Given the description of an element on the screen output the (x, y) to click on. 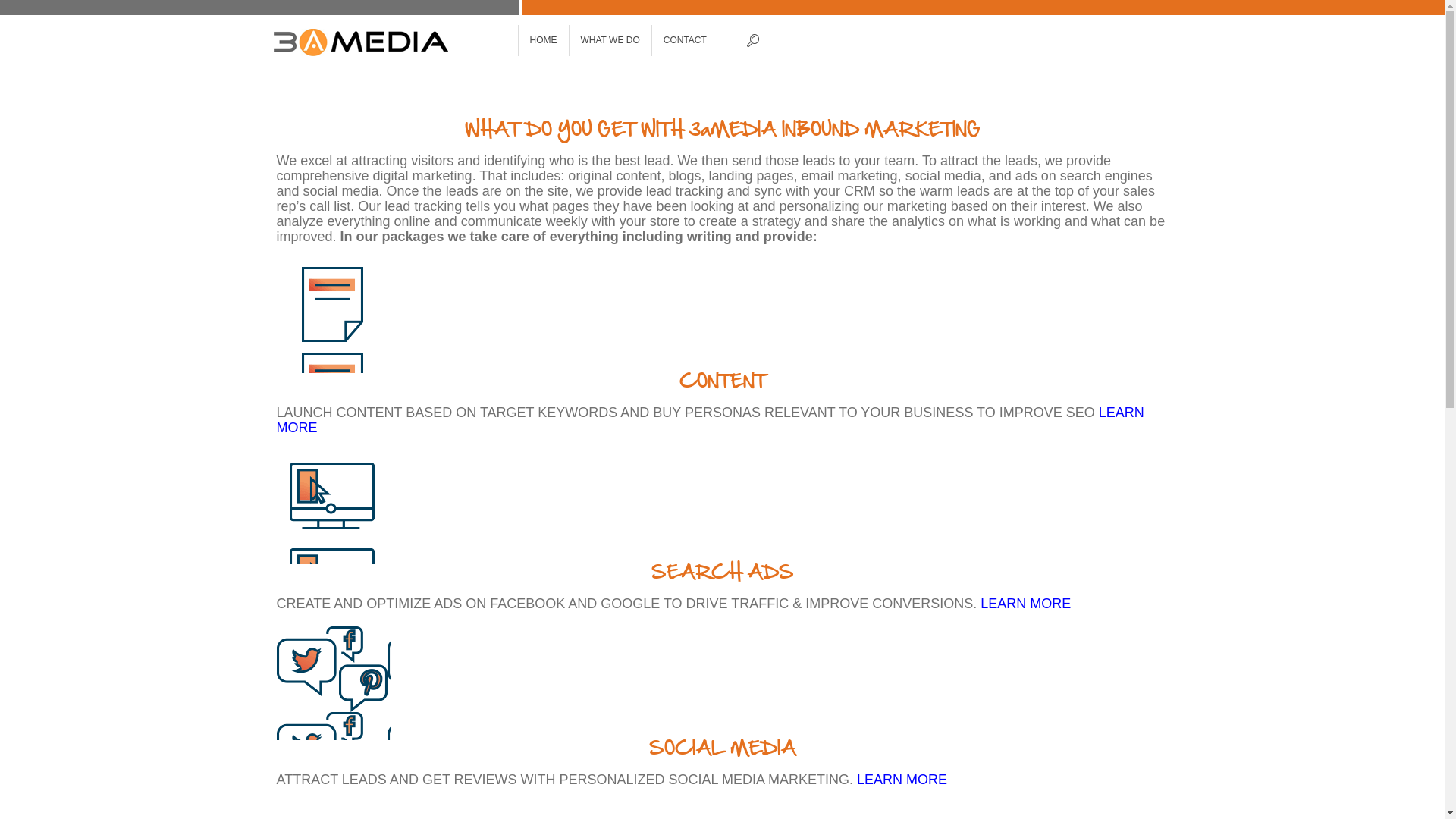
HOME Element type: text (543, 40)
WHAT WE DO Element type: text (609, 40)
CONTACT Element type: text (685, 40)
3aMedia Element type: hover (391, 41)
LEARN MORE Element type: text (709, 419)
